Given the description of an element on the screen output the (x, y) to click on. 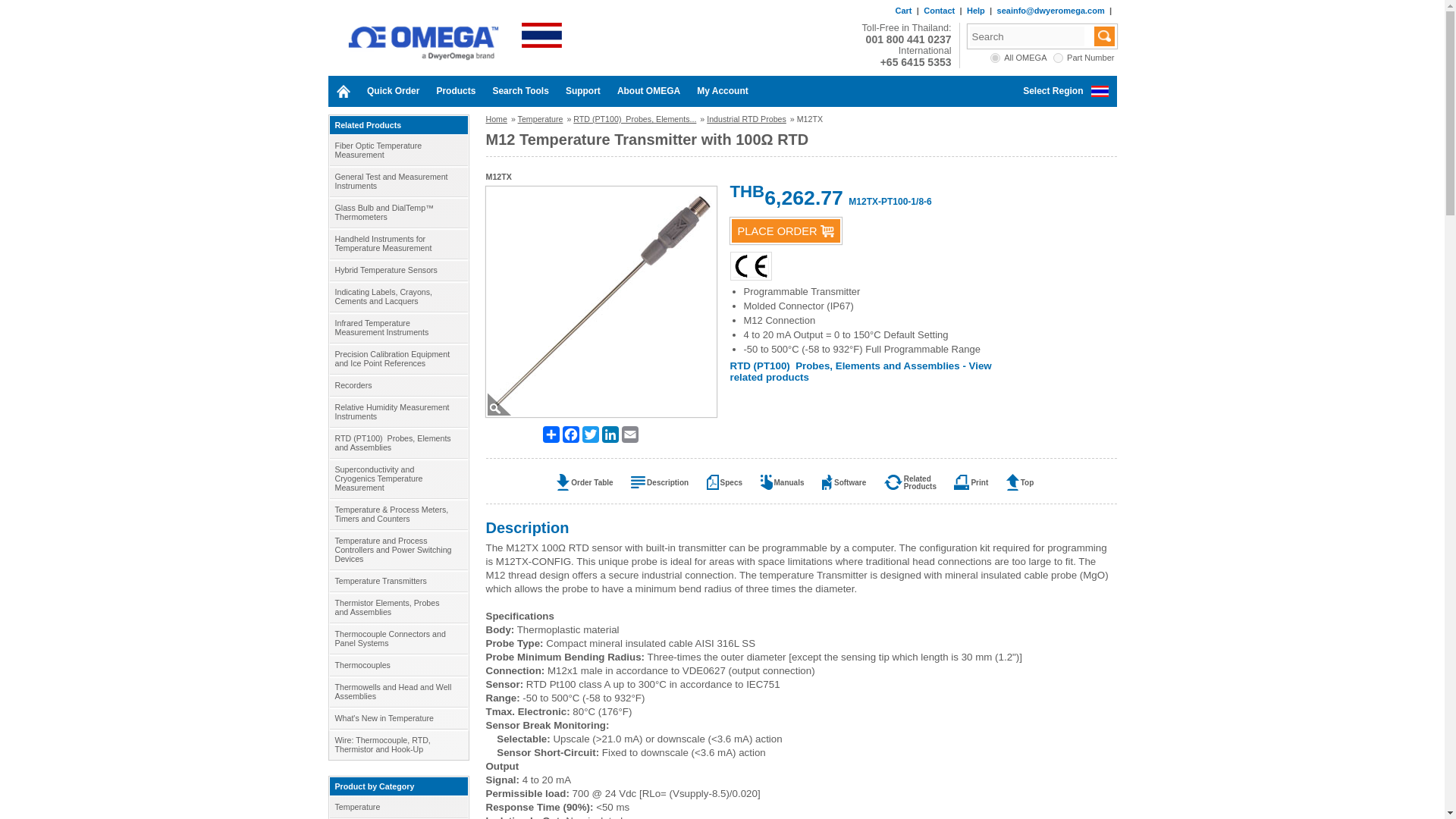
Fiber Optic Temperature Measurement (398, 150)
Temperature Transmitters (398, 580)
Superconductivity and Cryogenics Temperature Measurement (398, 477)
Contact (939, 10)
Indicating Labels, Crayons, Cements and Lacquers (398, 296)
General Test and Measurement Instruments (398, 181)
What's New in Temperature (398, 717)
Quick Order (393, 91)
Products (455, 91)
pn (1057, 58)
Thermocouple Connectors and Panel Systems (398, 638)
Precision Calibration Equipment and Ice Point References (398, 358)
Thermistor Elements, Probes and Assemblies (398, 607)
allomega (995, 58)
